Given the description of an element on the screen output the (x, y) to click on. 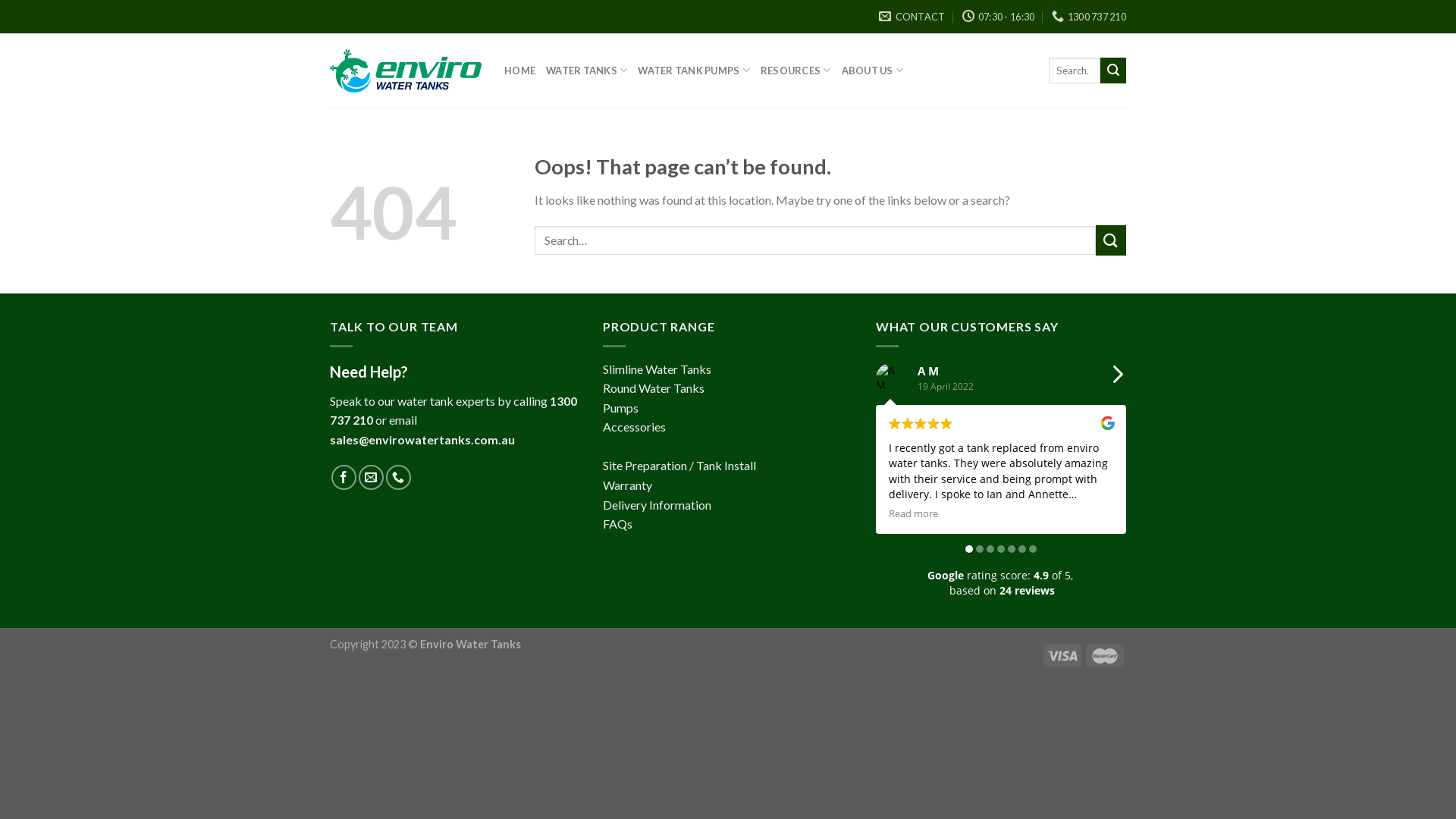
Delivery Information Element type: text (656, 504)
WATER TANKS Element type: text (586, 69)
WATER TANK PUMPS Element type: text (693, 69)
07:30 - 16:30 Element type: text (998, 16)
Round Water Tanks Element type: text (653, 387)
CONTACT Element type: text (911, 16)
Call us Element type: hover (398, 476)
1300 737 210 Element type: text (1088, 16)
sales@envirowatertanks.com.au Element type: text (421, 439)
FAQs Element type: text (617, 523)
Follow on Facebook Element type: hover (343, 476)
Slimline Water Tanks Element type: text (656, 368)
Accessories Element type: text (633, 426)
Search Element type: text (1113, 70)
Send us an email Element type: hover (370, 476)
Pumps Element type: text (620, 407)
1300 737 210 Element type: text (453, 410)
HOME Element type: text (519, 70)
ABOUT US Element type: text (872, 69)
Warranty Element type: text (627, 484)
RESOURCES Element type: text (795, 69)
Site Preparation / Tank Install Element type: text (679, 465)
